Given the description of an element on the screen output the (x, y) to click on. 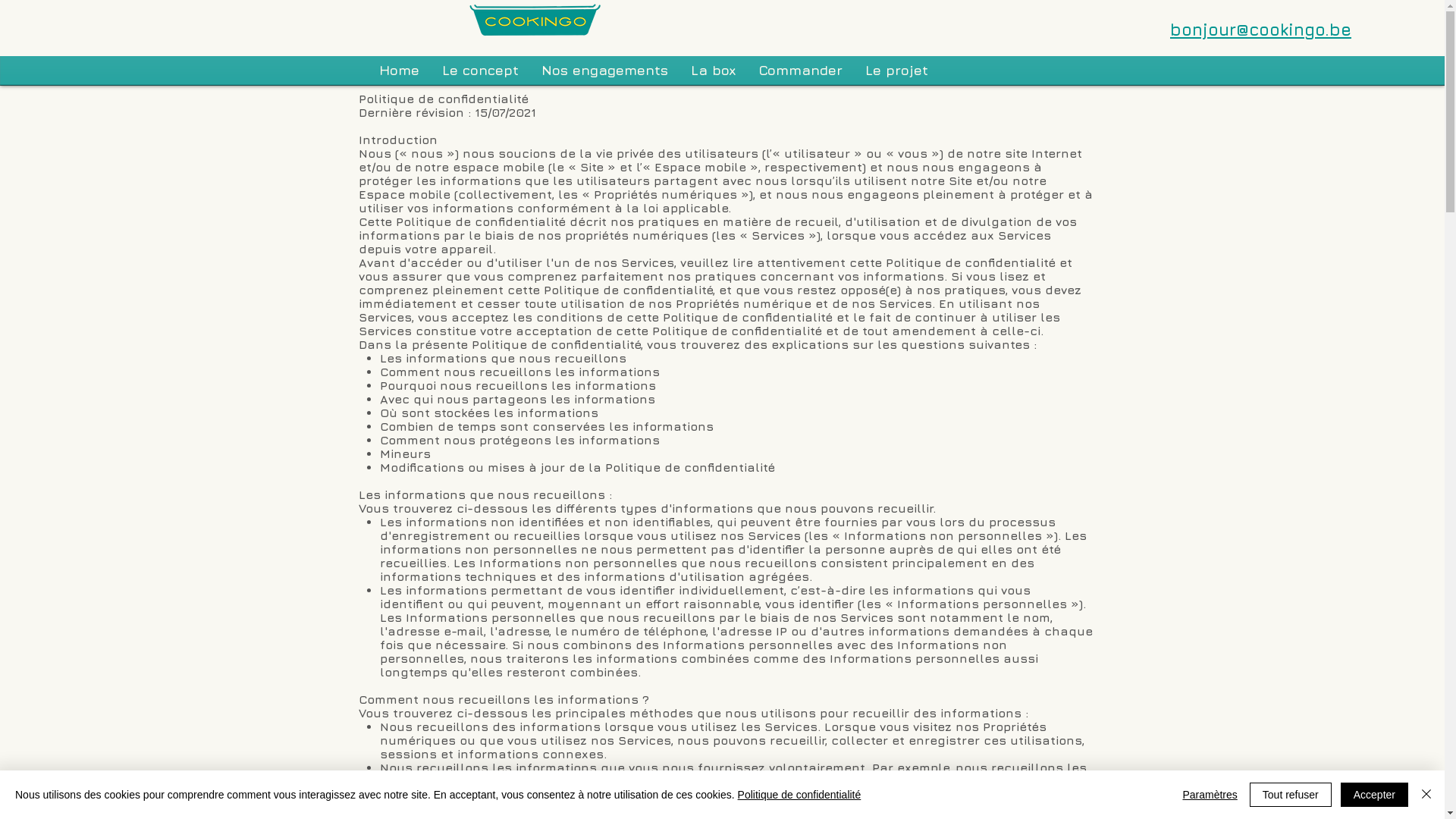
Commander Element type: text (800, 67)
Le projet Element type: text (896, 67)
bonjour@cookingo.be Element type: text (1142, 34)
La box Element type: text (713, 67)
Accepter Element type: text (1374, 794)
Tout refuser Element type: text (1290, 794)
bonjour@cookingo.be Element type: text (1260, 29)
Le concept Element type: text (480, 67)
Nos engagements Element type: text (603, 67)
Home Element type: text (398, 67)
